Given the description of an element on the screen output the (x, y) to click on. 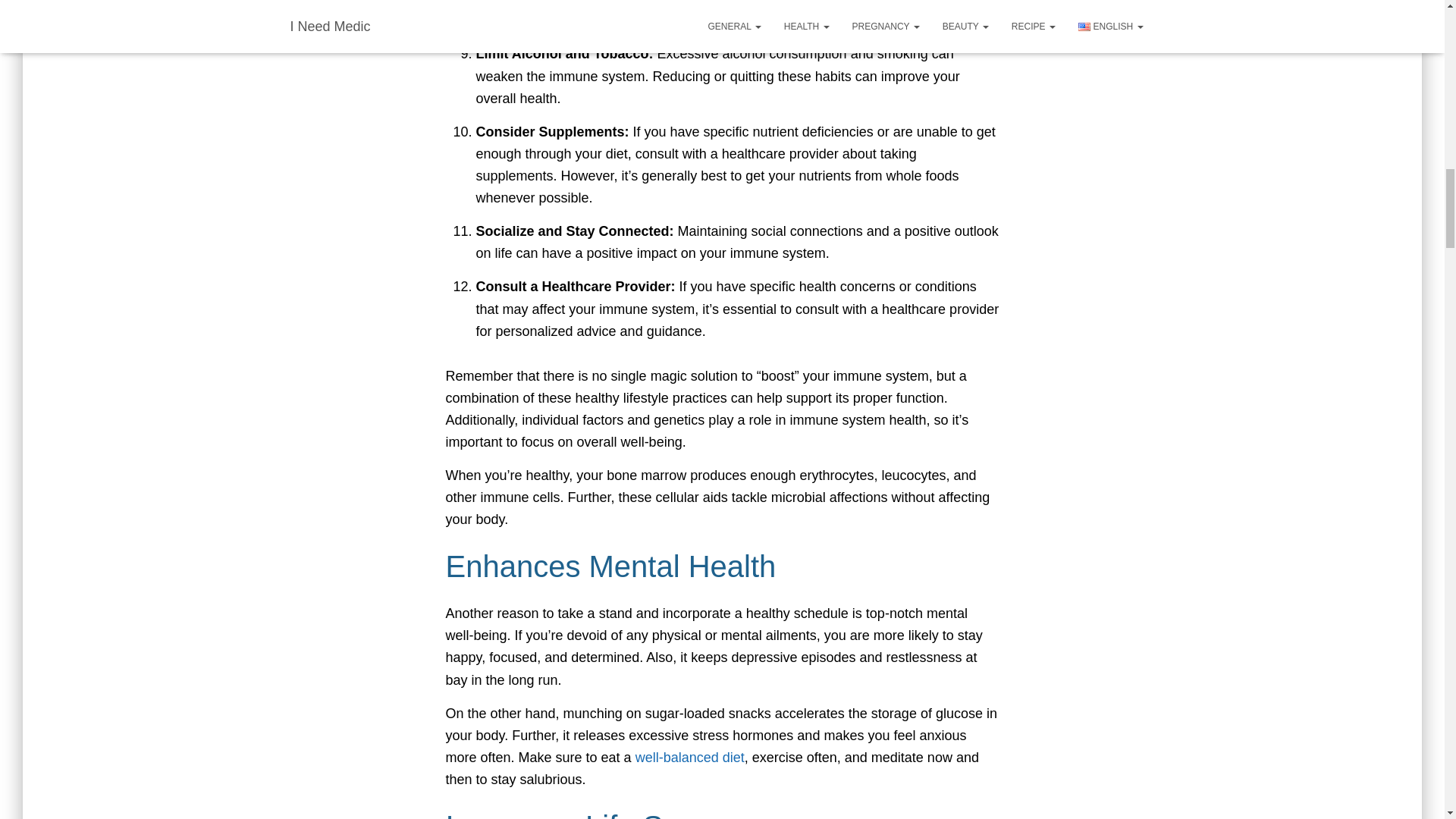
well-balanced diet (689, 757)
